Given the description of an element on the screen output the (x, y) to click on. 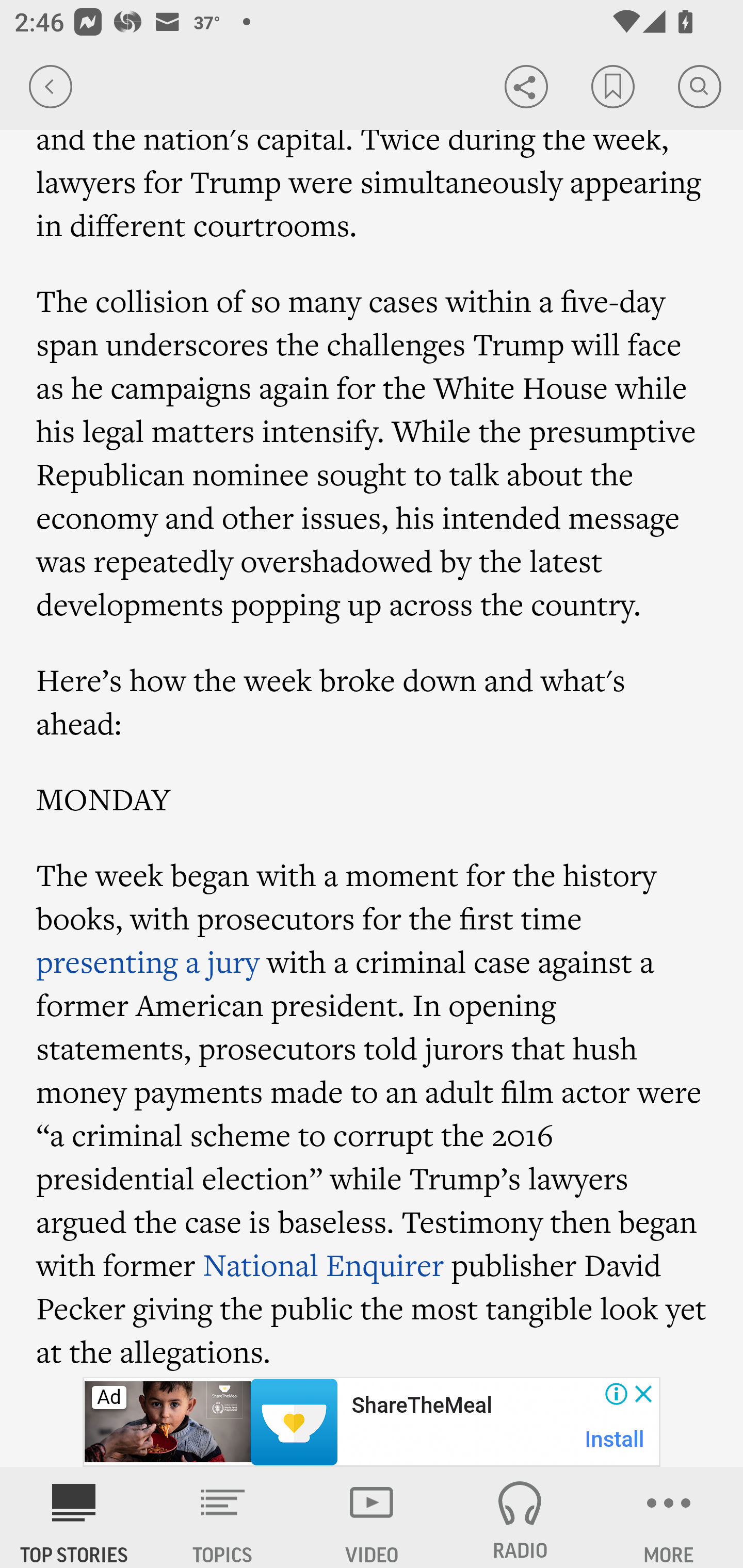
presenting a jury (148, 961)
National Enquirer (323, 1265)
ShareTheMeal (420, 1405)
Install (614, 1438)
AP News TOP STORIES (74, 1517)
TOPICS (222, 1517)
VIDEO (371, 1517)
RADIO (519, 1517)
MORE (668, 1517)
